Given the description of an element on the screen output the (x, y) to click on. 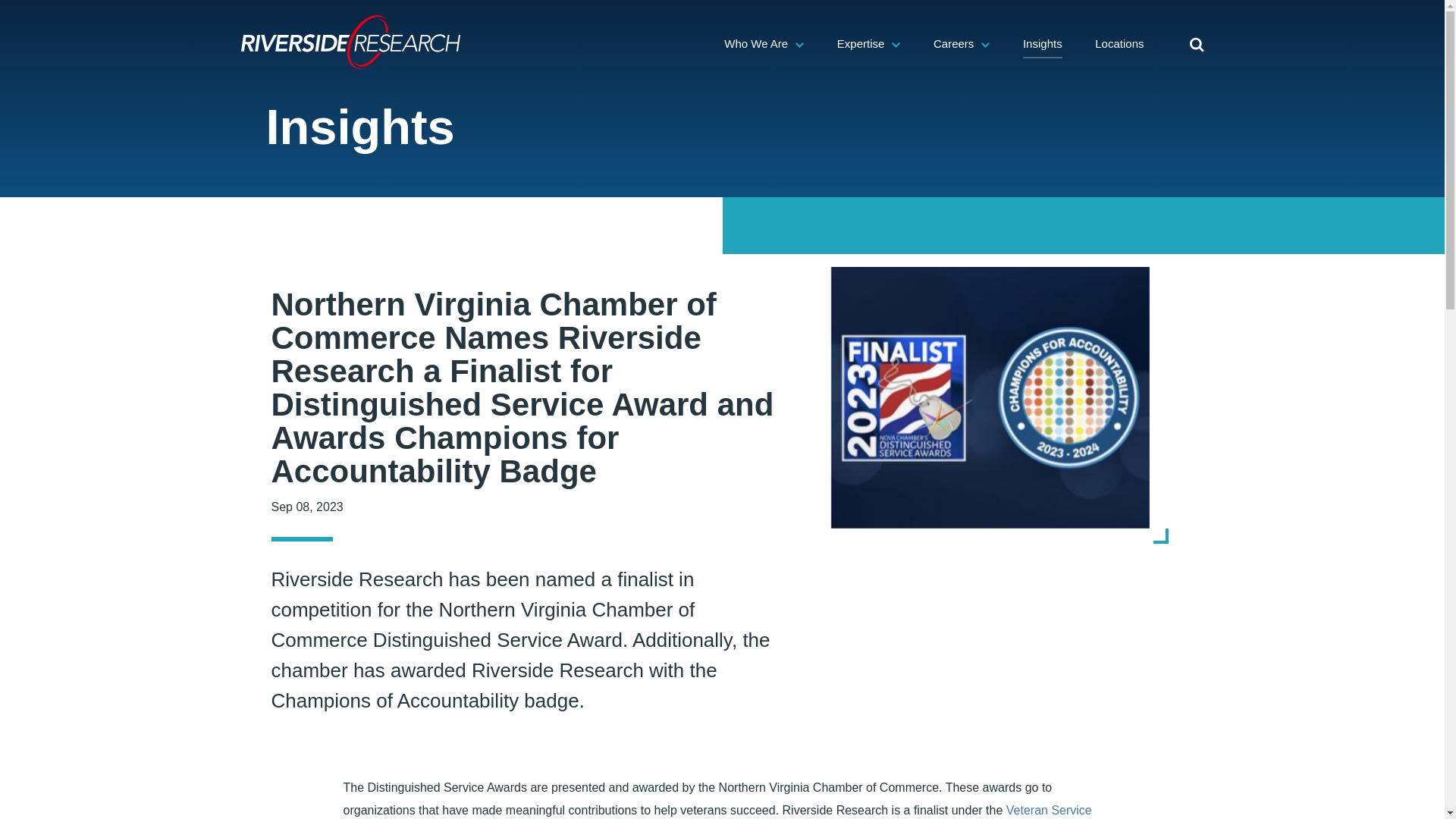
Riverside Research (351, 41)
Insights (1042, 42)
Who We Are (763, 42)
Expertise (869, 42)
Locations (1118, 42)
Careers (961, 42)
